Given the description of an element on the screen output the (x, y) to click on. 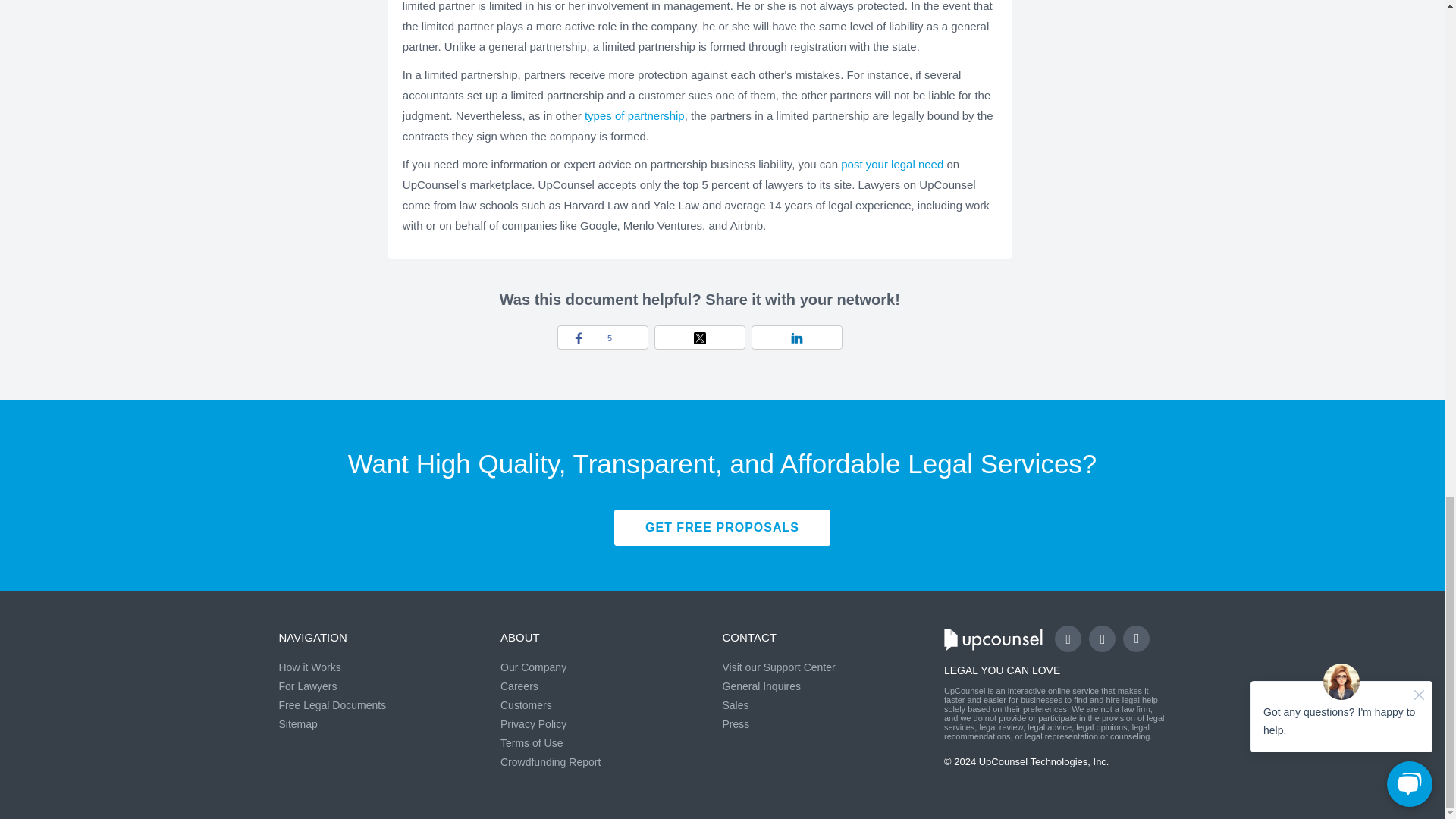
post your legal need (892, 164)
types of partnership (634, 115)
Connect with us on LinkedIn (1136, 638)
Like us on Facebook (1067, 638)
Follow us on Twitter (1102, 638)
